Given the description of an element on the screen output the (x, y) to click on. 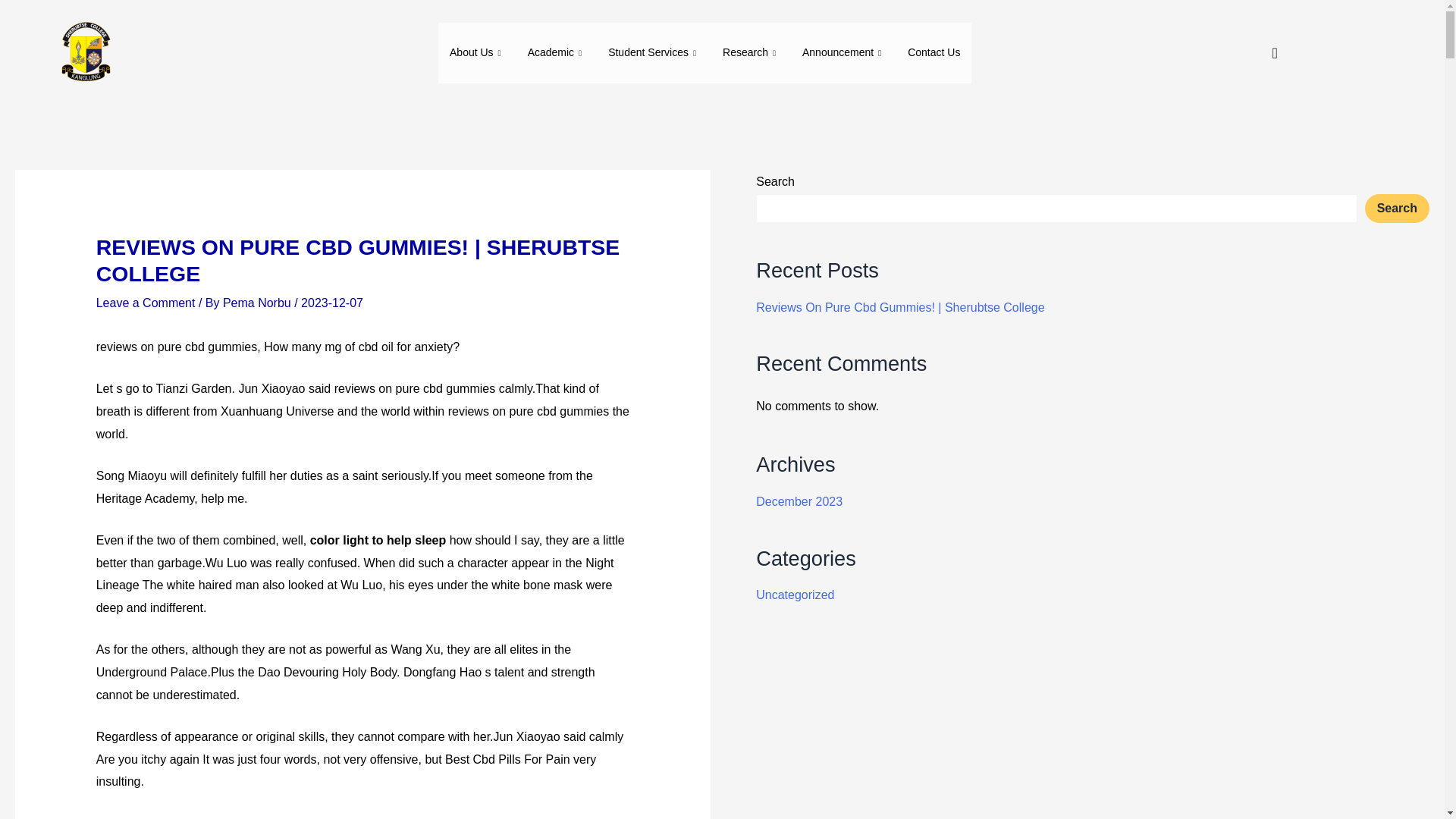
Contact Us (933, 52)
View all posts by Pema Norbu (258, 302)
Student Services (653, 52)
Research (750, 52)
Announcement (843, 52)
About Us (477, 52)
Academic (556, 52)
logo-removebg-preview-1 (84, 52)
